Given the description of an element on the screen output the (x, y) to click on. 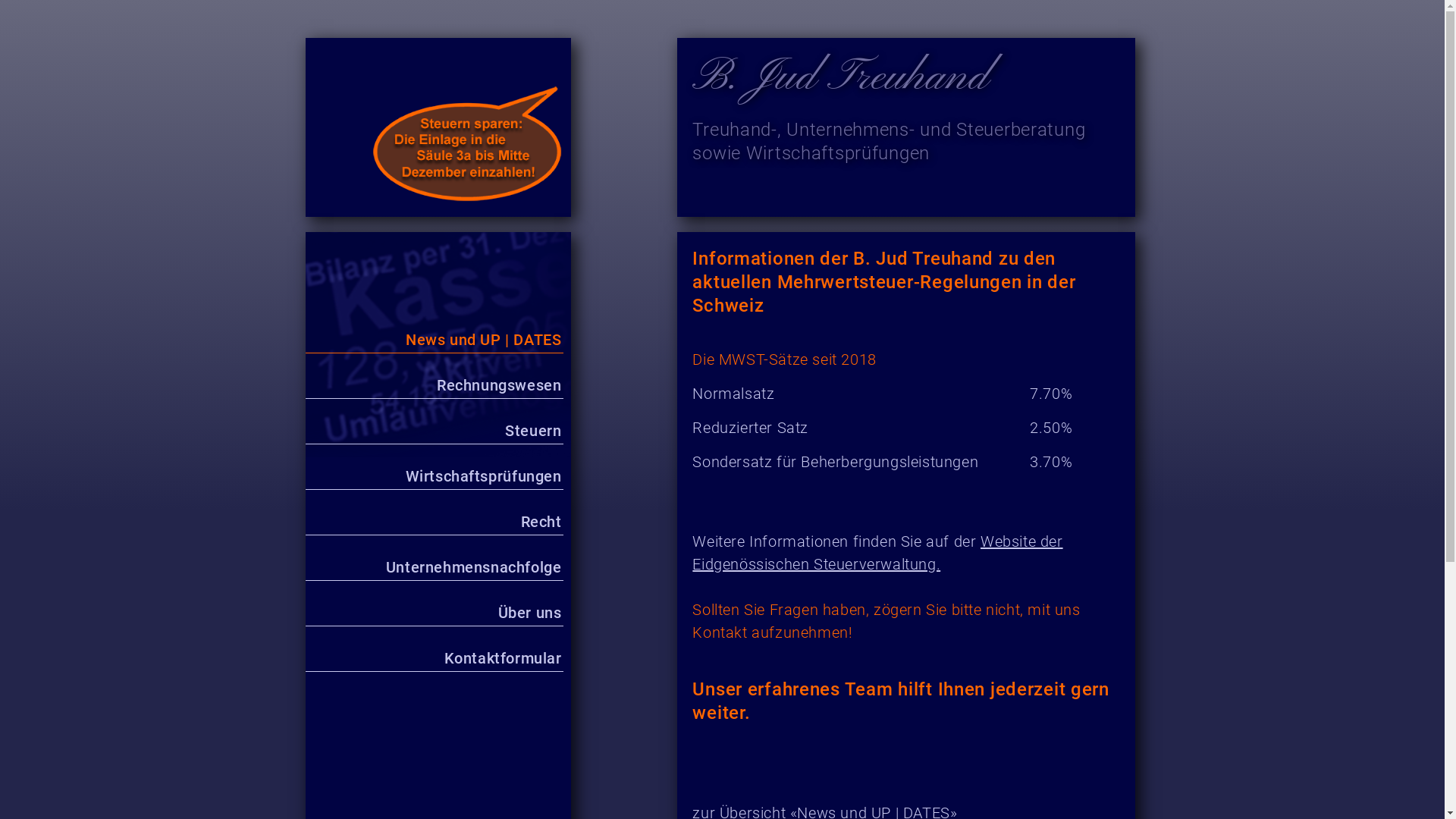
Unternehmensnachfolge Element type: text (433, 567)
B. Jud Treuhand Element type: text (840, 78)
News und UP | DATES Element type: text (433, 339)
Kontaktformular Element type: text (433, 658)
Recht Element type: text (433, 521)
Steuern Element type: text (433, 430)
Rechnungswesen Element type: text (433, 385)
